Given the description of an element on the screen output the (x, y) to click on. 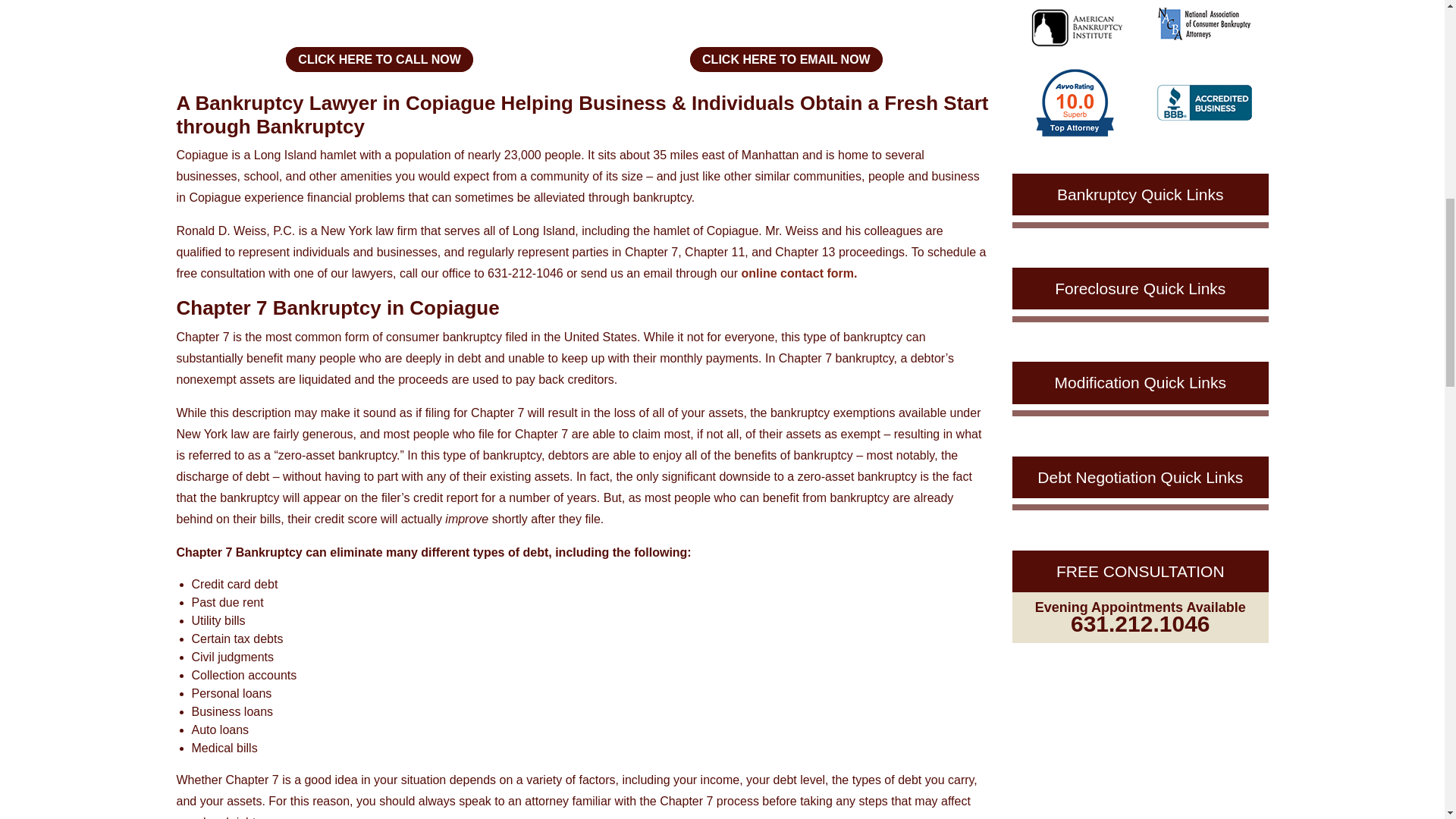
YouTube video player (583, 15)
